Given the description of an element on the screen output the (x, y) to click on. 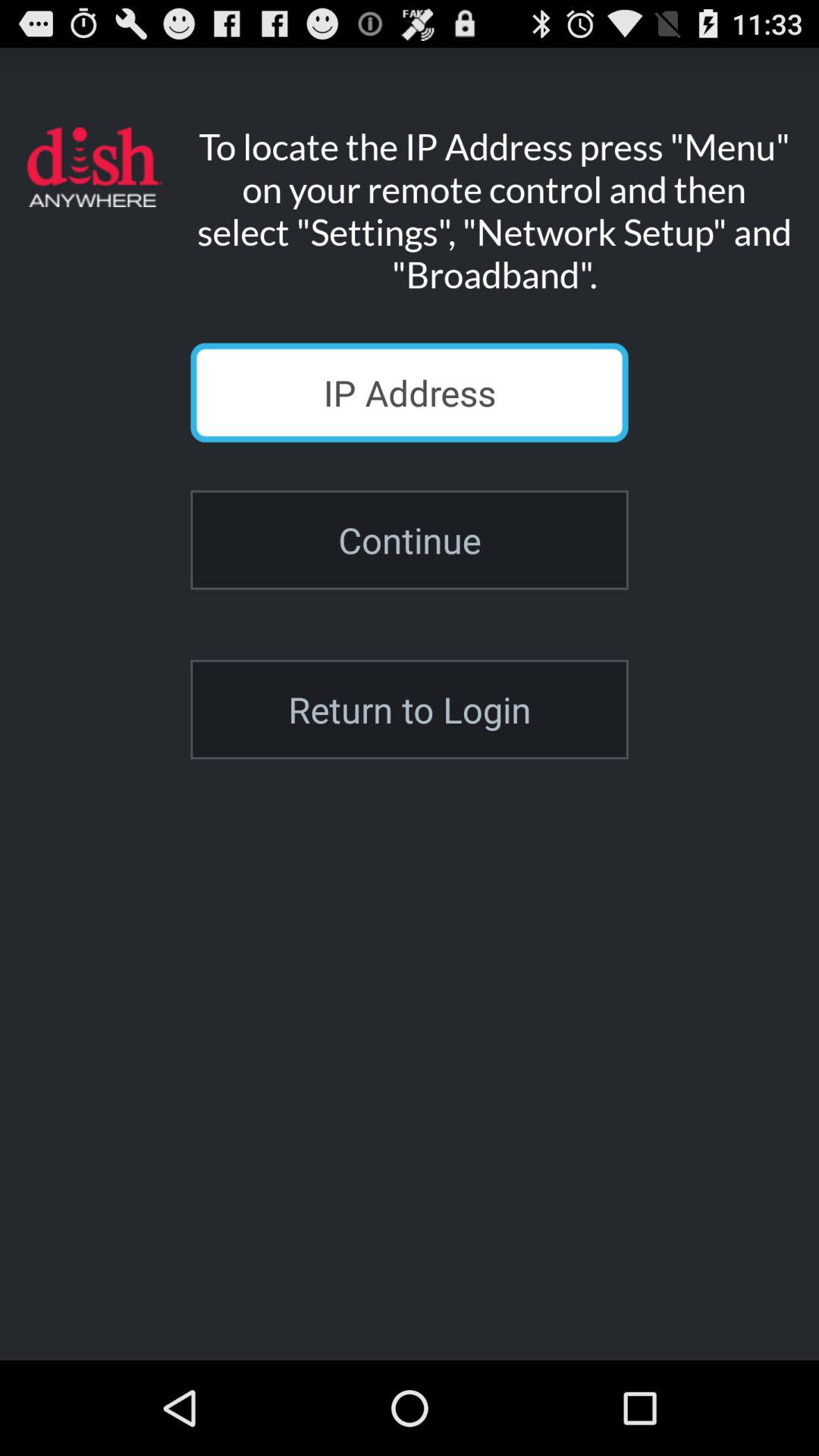
swipe to the continue icon (409, 539)
